Given the description of an element on the screen output the (x, y) to click on. 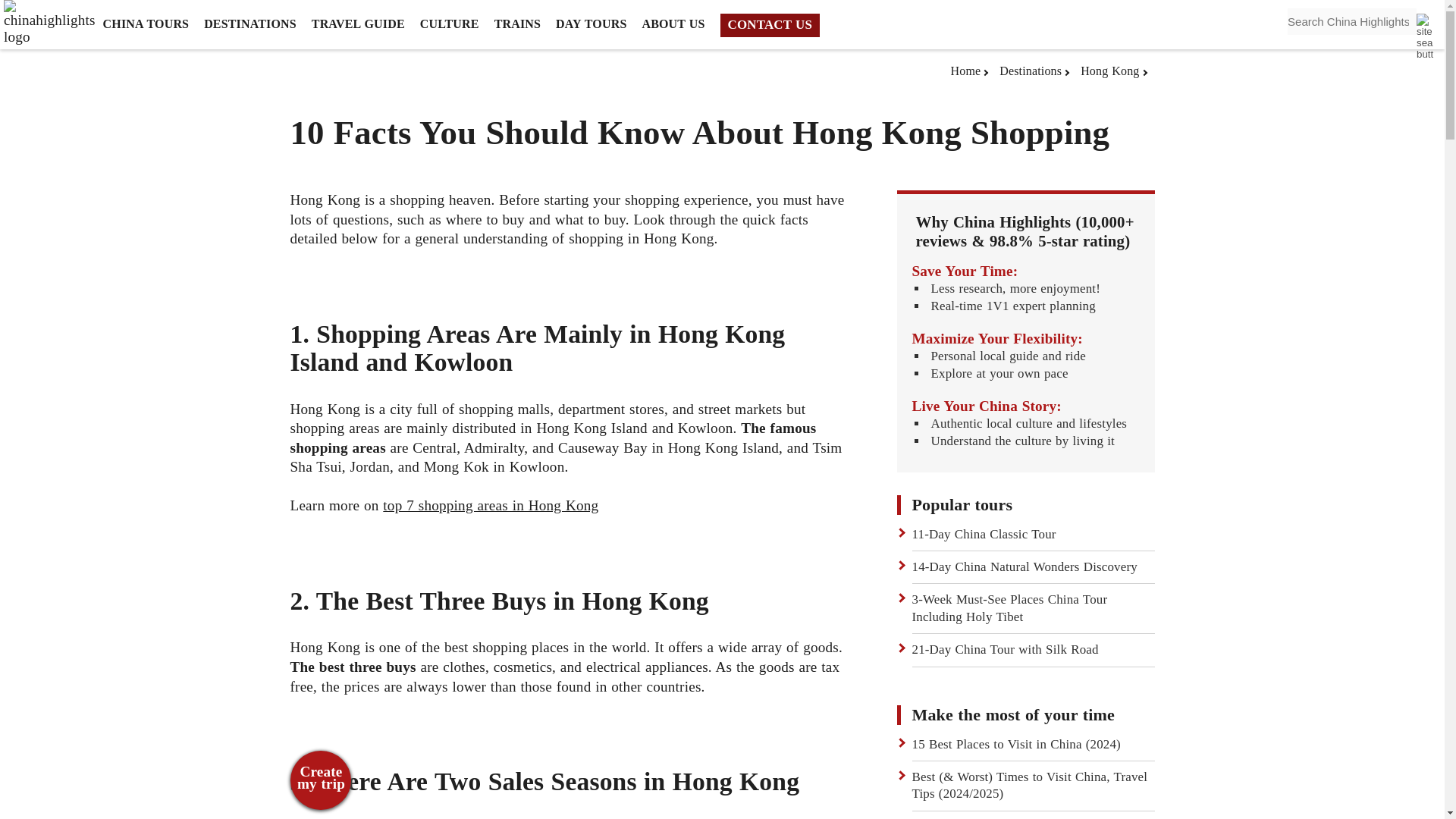
DESTINATIONS (250, 24)
CHINA TOURS (146, 24)
TRAVEL GUIDE (357, 24)
